Given the description of an element on the screen output the (x, y) to click on. 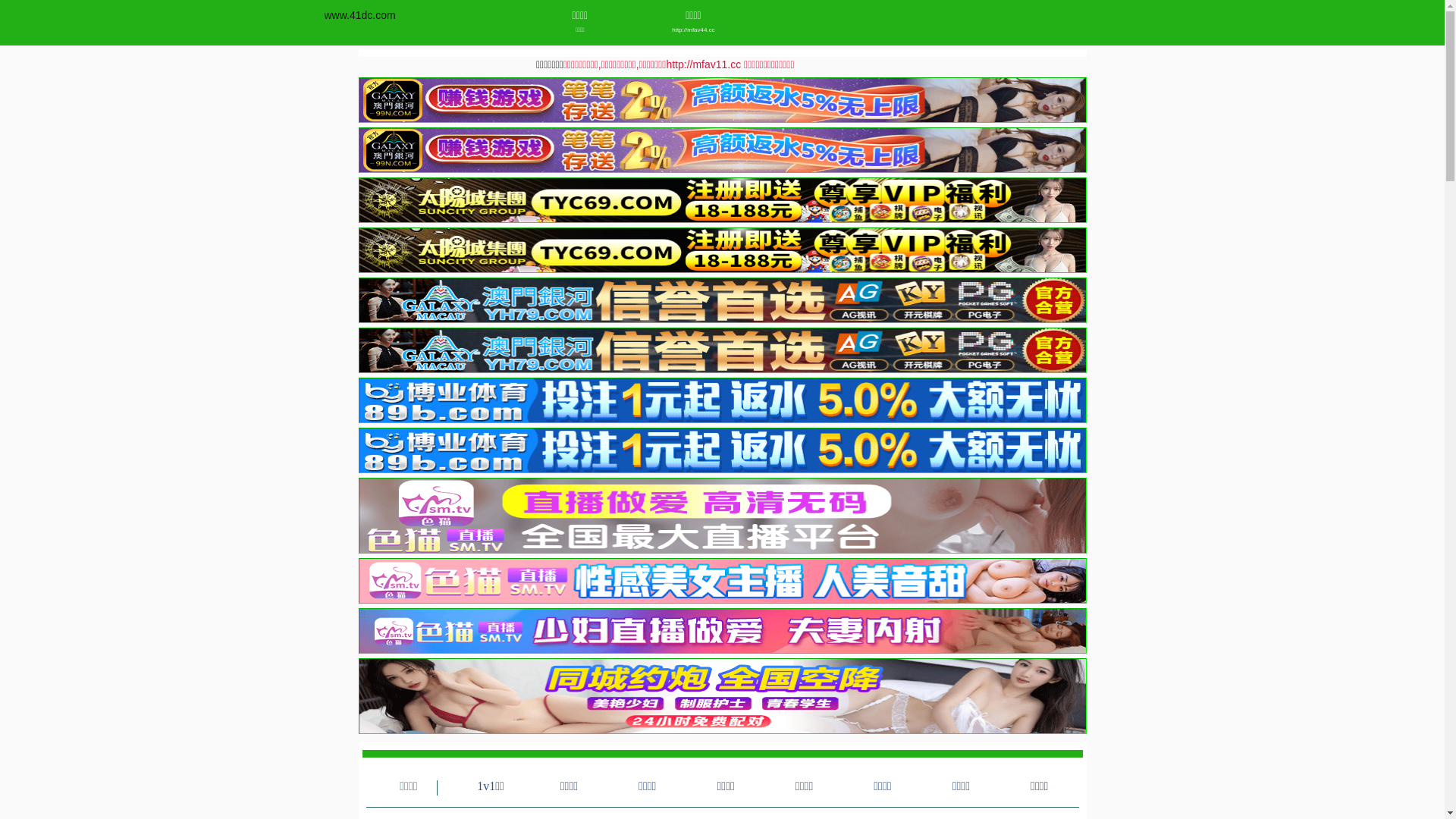
www.41dc.com Element type: text (359, 15)
http://mfav44.cc Element type: text (693, 29)
